Given the description of an element on the screen output the (x, y) to click on. 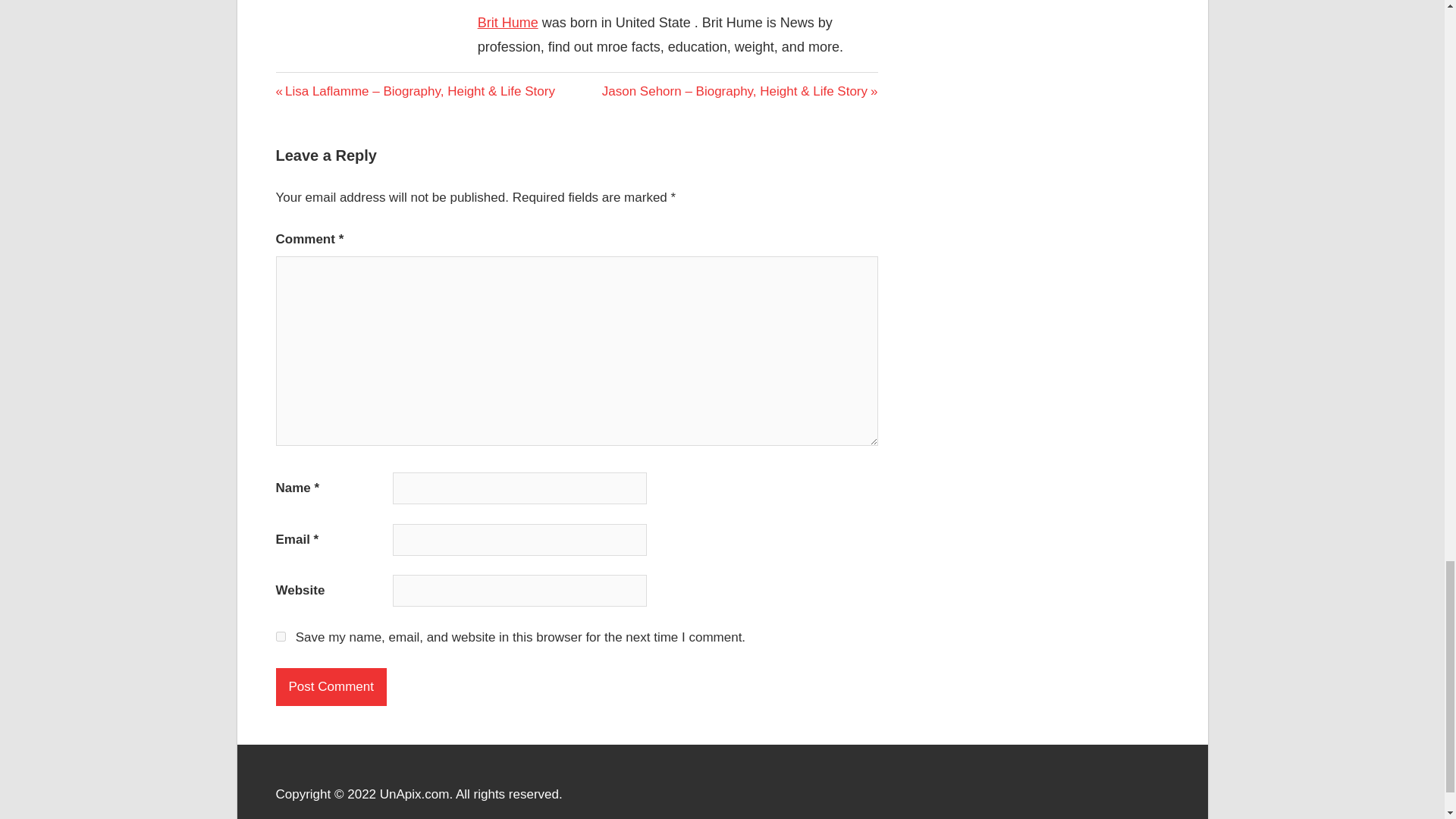
Brit Hume (507, 22)
yes (280, 636)
Post Comment (331, 686)
BIOGRAPHIES (321, 85)
Post Comment (331, 686)
BIO (289, 82)
